Given the description of an element on the screen output the (x, y) to click on. 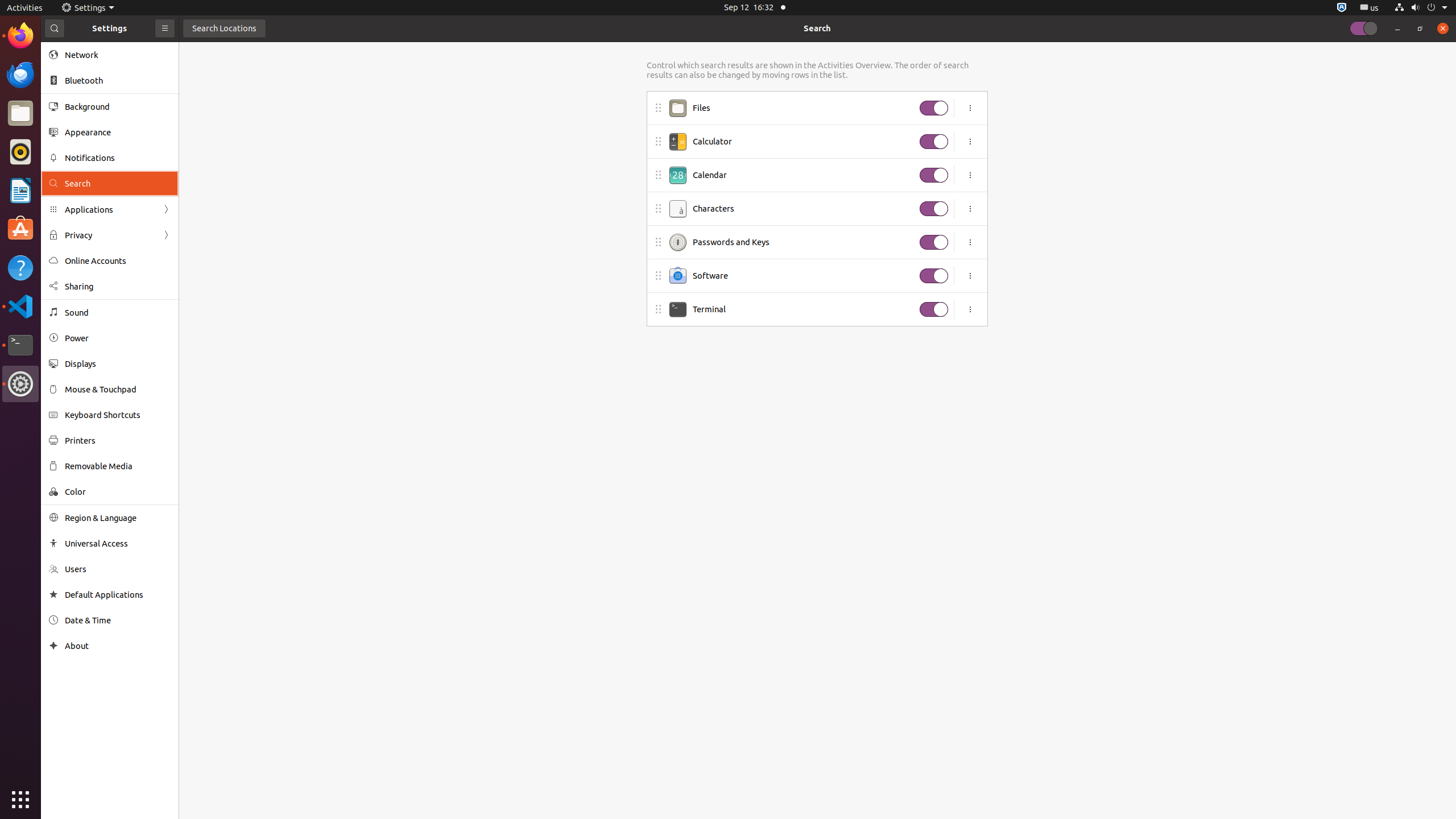
Displays Element type: label (117, 363)
Applications Element type: label (109, 209)
Minimize Element type: push-button (1397, 27)
Close Element type: push-button (1442, 27)
